Given the description of an element on the screen output the (x, y) to click on. 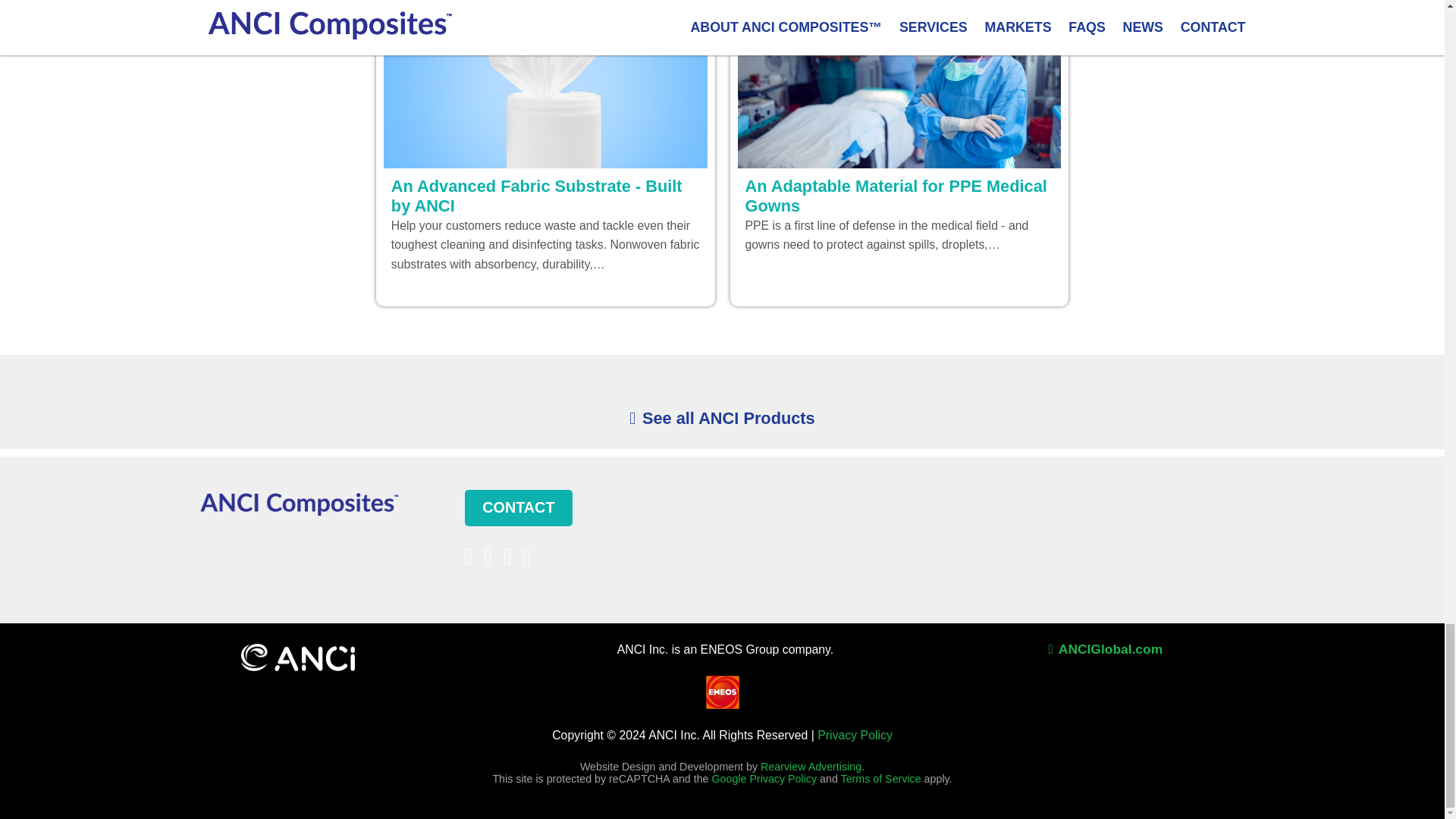
An Advanced Fabric Substrate - Built by ANCI (545, 196)
An Adaptable Material for PPE Medical Gowns (898, 196)
See all ANCI Products (720, 417)
